Given the description of an element on the screen output the (x, y) to click on. 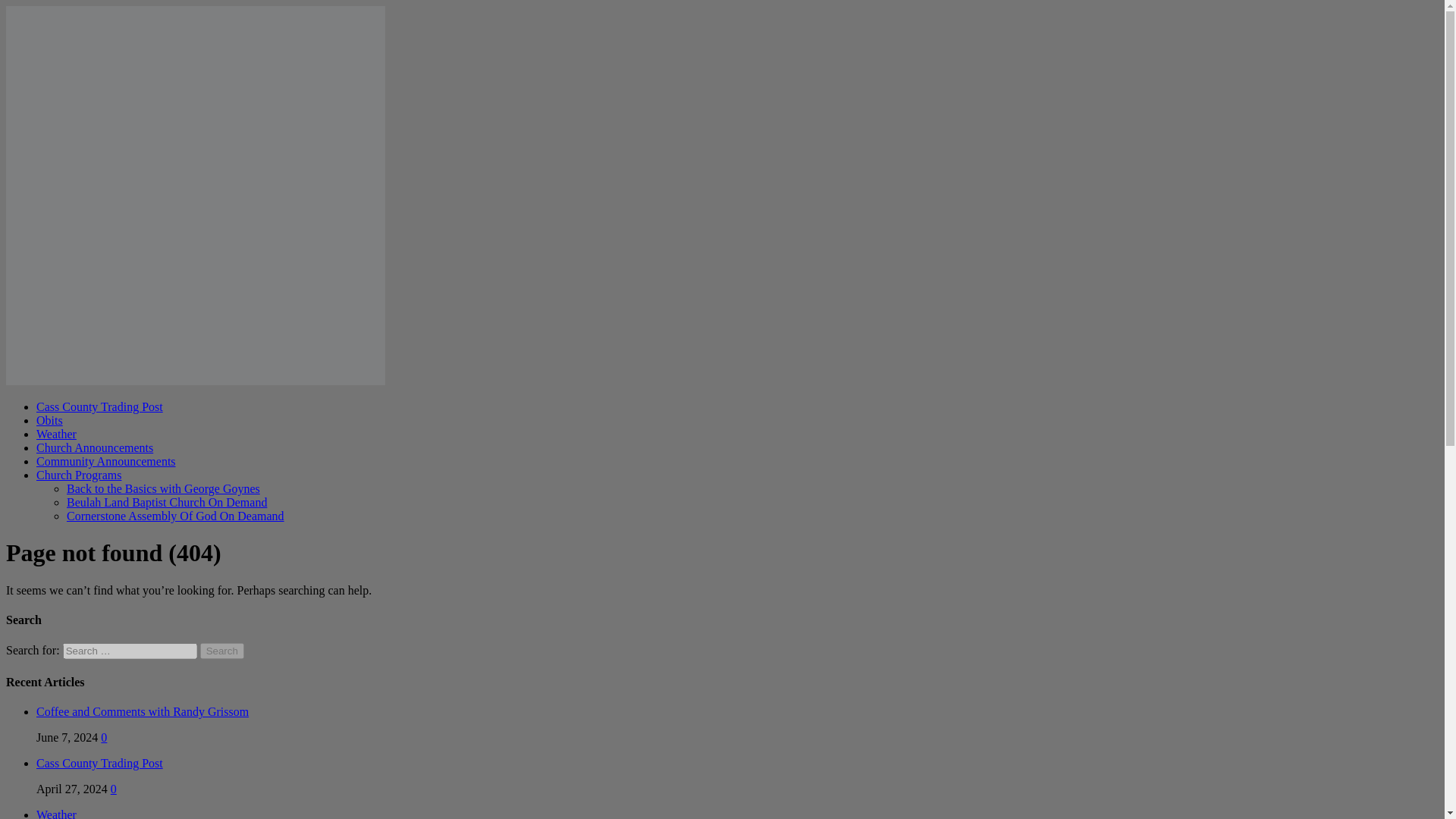
Coffee and Comments with Randy Grissom (142, 711)
Community Announcements (106, 461)
Coffee and Comments with Randy Grissom (142, 711)
Cass County Trading Post (99, 762)
Church Announcements (94, 447)
Obits (49, 420)
Cornerstone Assembly Of God On Deamand (174, 515)
Weather (56, 433)
Search (222, 650)
Weather (56, 813)
Back to the Basics with George Goynes (163, 488)
Weather (56, 813)
Cass County Trading Post (99, 762)
Search (222, 650)
Church Programs (78, 474)
